Given the description of an element on the screen output the (x, y) to click on. 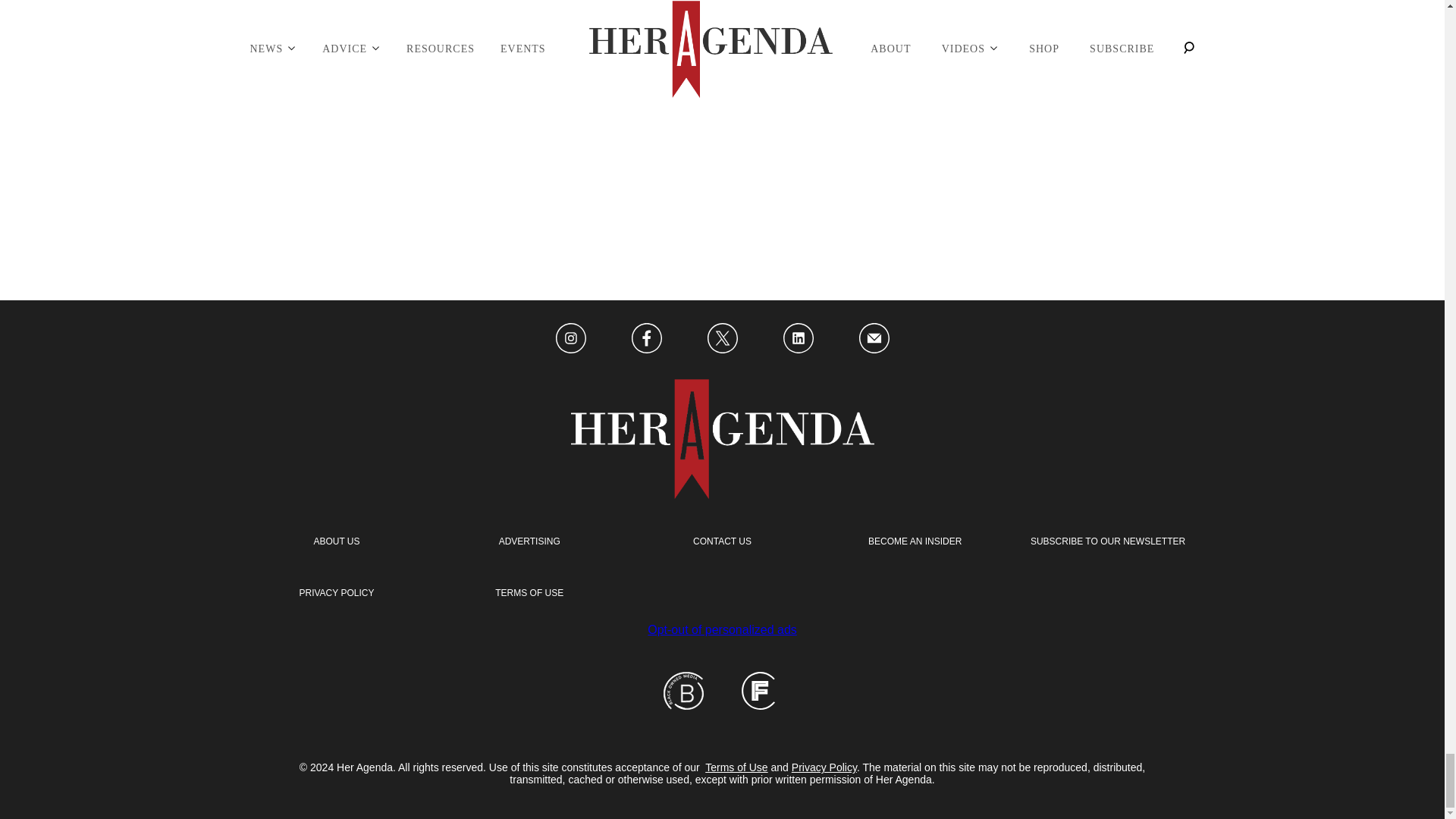
Contact Us (722, 541)
Advertising (529, 541)
Link to Facebook (645, 339)
Become an Insider (913, 541)
Link to X (721, 339)
Link to LinkedIn (797, 339)
Newsletter signup (336, 593)
About Us (336, 541)
Link to Email (873, 339)
Link to Instagram (569, 339)
Newsletter signup (1107, 541)
